Given the description of an element on the screen output the (x, y) to click on. 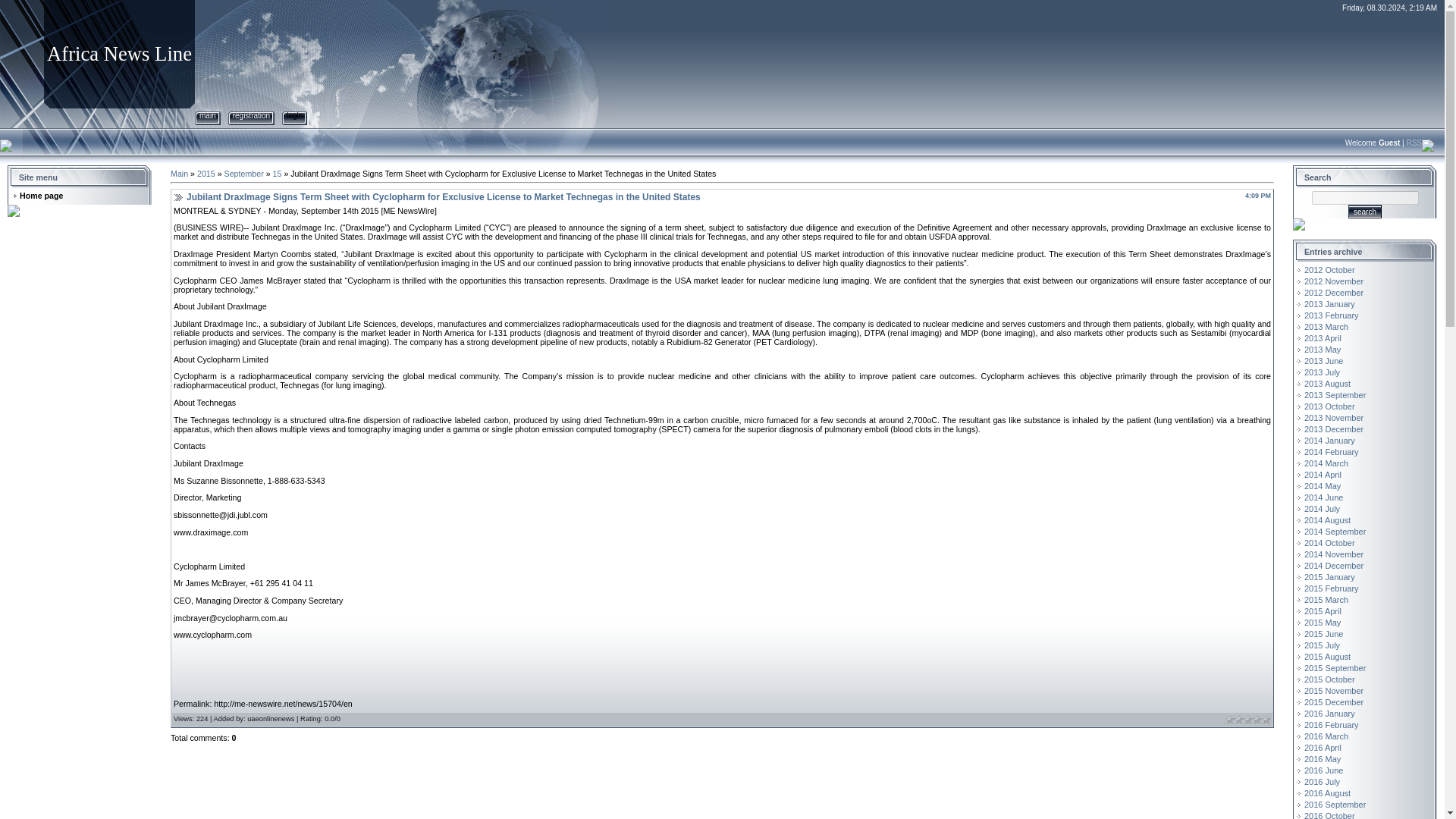
2012 December (1333, 292)
2014 April (1322, 474)
2013 March (1326, 326)
2 (1238, 718)
2014 September (1334, 531)
September (243, 173)
2013 January (1329, 303)
2014 January (1329, 440)
2013 June (1323, 360)
2012 November (1333, 280)
